Given the description of an element on the screen output the (x, y) to click on. 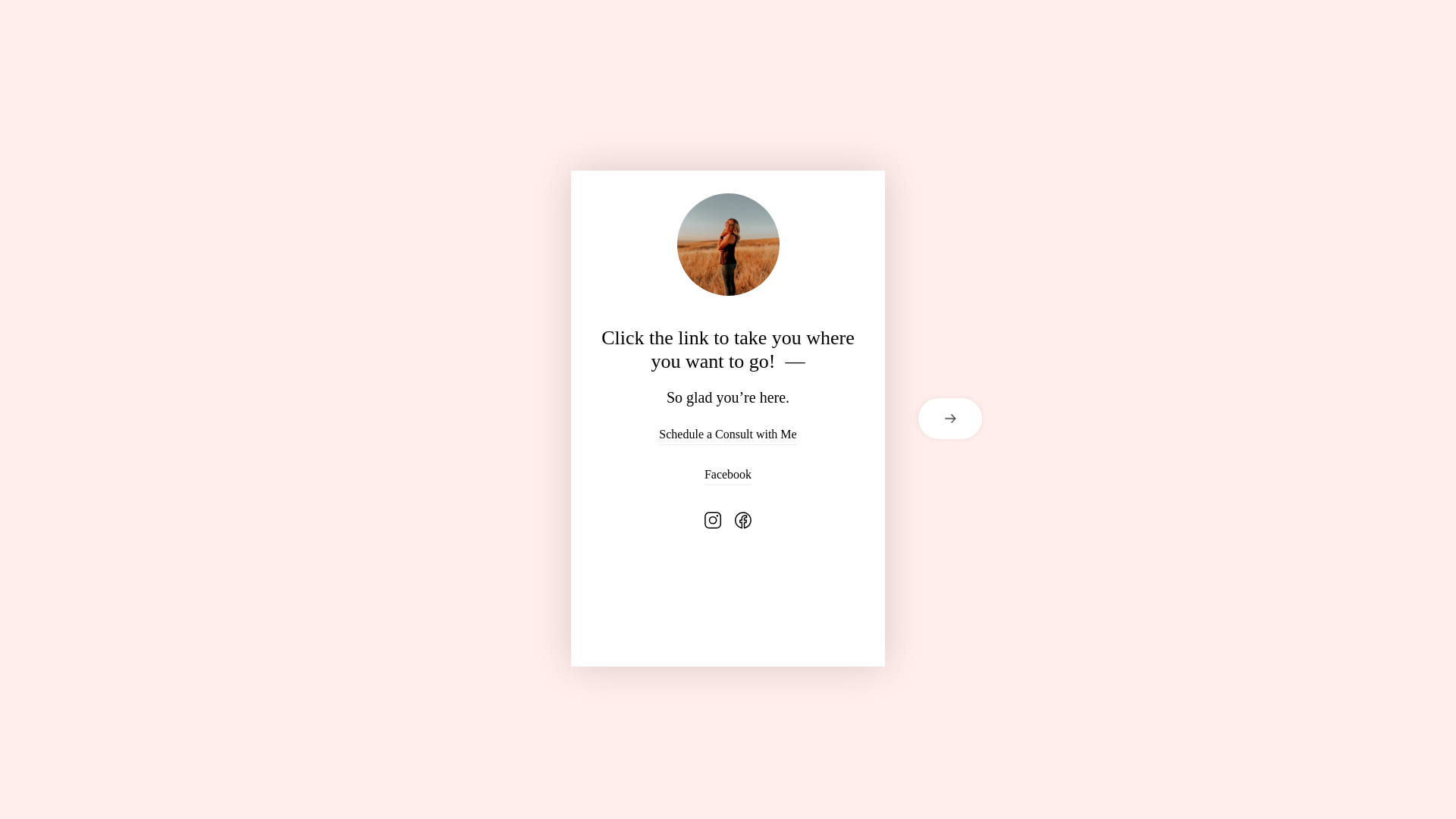
Schedule a Consult with Me (727, 433)
Facebook (727, 473)
